Given the description of an element on the screen output the (x, y) to click on. 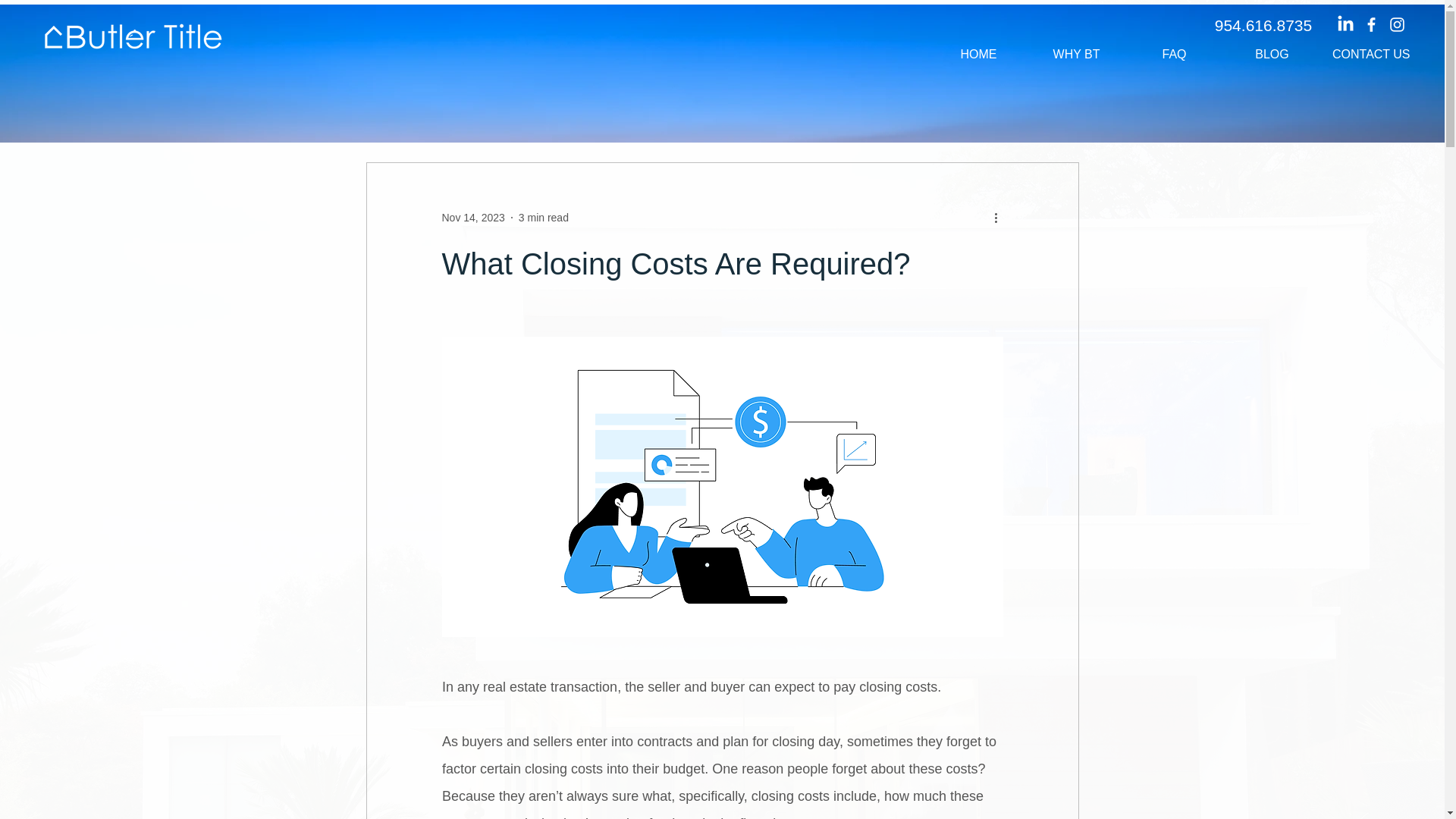
BLOG (1271, 53)
954.616.8735 (1263, 25)
3 min read (543, 216)
HOME (978, 53)
Nov 14, 2023 (472, 216)
WHY BT (1076, 53)
CONTACT US (1369, 53)
FAQ (1174, 53)
